Given the description of an element on the screen output the (x, y) to click on. 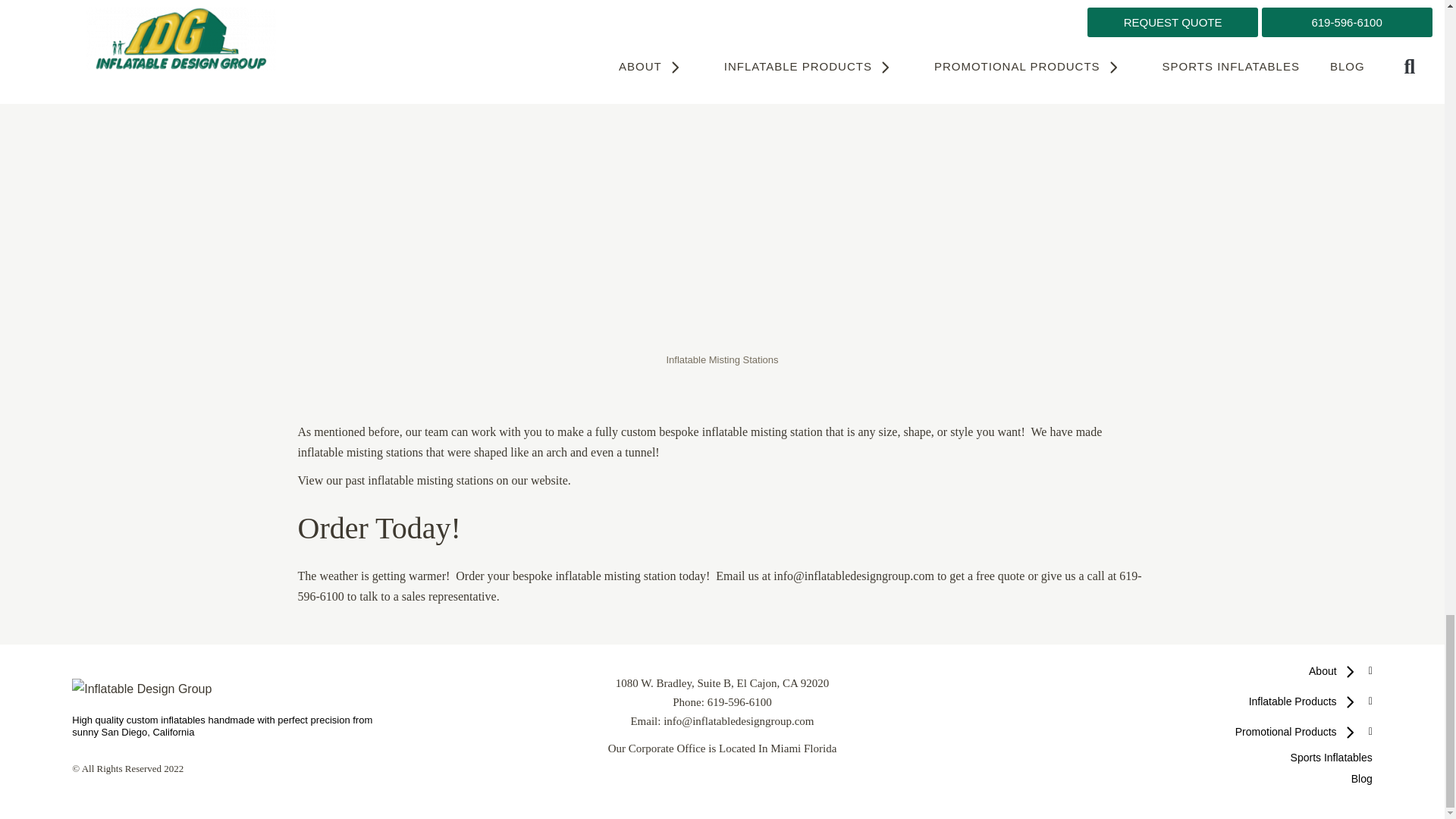
Inflatable Design Group (141, 688)
